Given the description of an element on the screen output the (x, y) to click on. 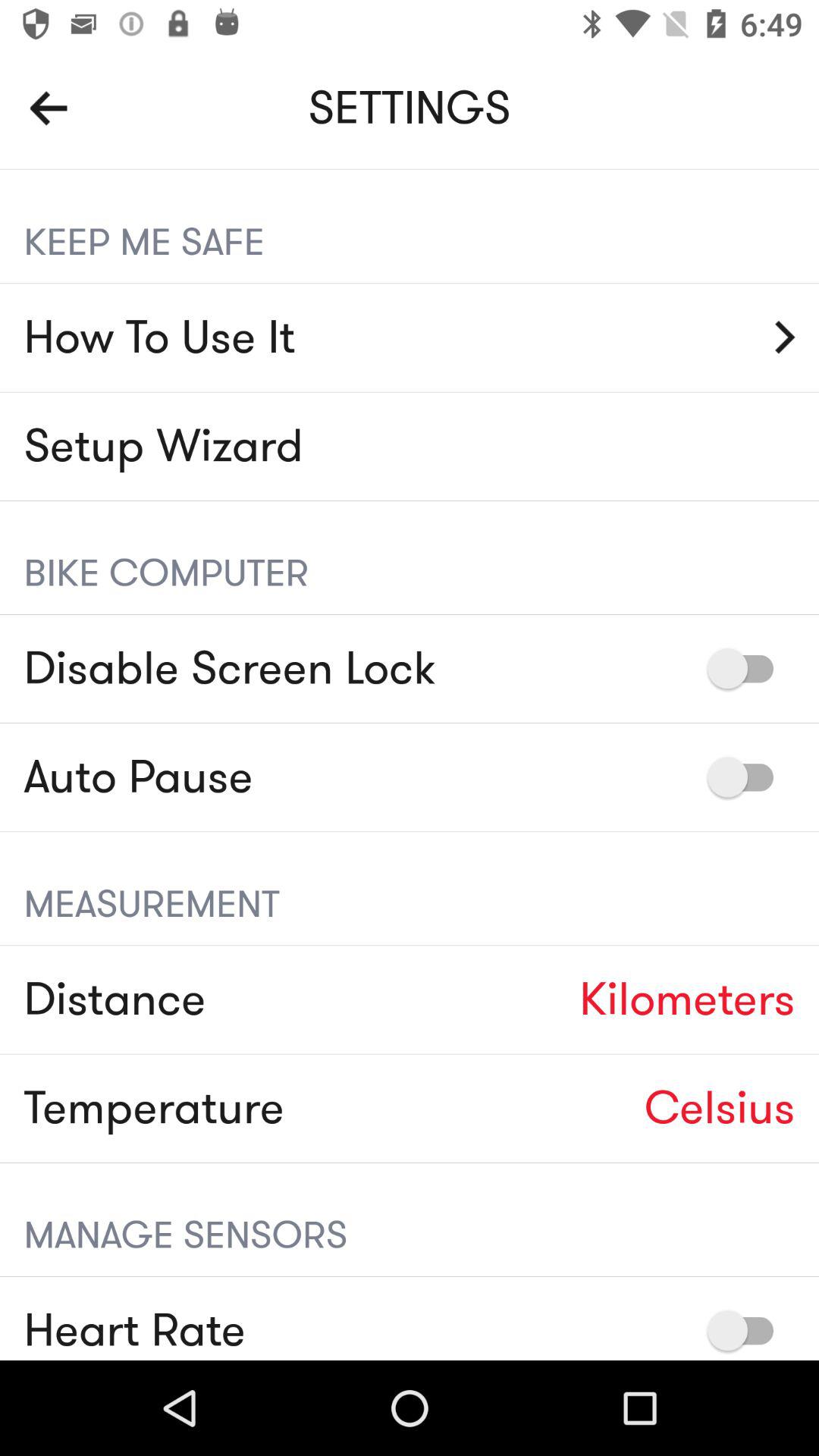
toggle heart rate (747, 1330)
